Given the description of an element on the screen output the (x, y) to click on. 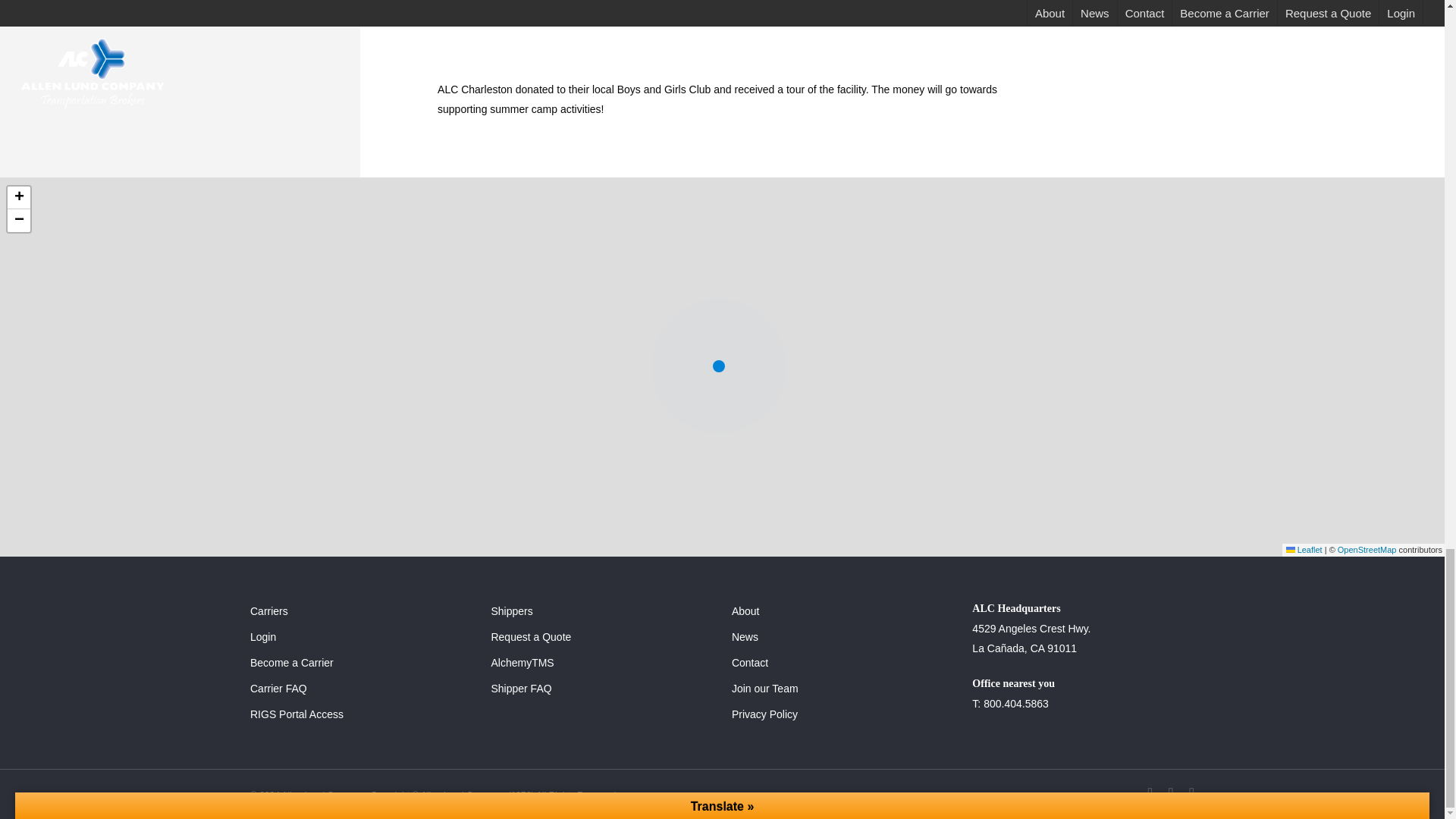
Shipper FAQ (601, 688)
Leaflet (1303, 549)
AlchemyTMS (601, 662)
RIGS Portal Access (360, 713)
Request a Quote (601, 637)
About (842, 610)
Carrier FAQ (360, 688)
OpenStreetMap (1367, 549)
Zoom out (18, 220)
Shippers (601, 610)
A JavaScript library for interactive maps (1303, 549)
Carriers (360, 610)
Join our Team (842, 688)
News (842, 637)
Contact (842, 662)
